Given the description of an element on the screen output the (x, y) to click on. 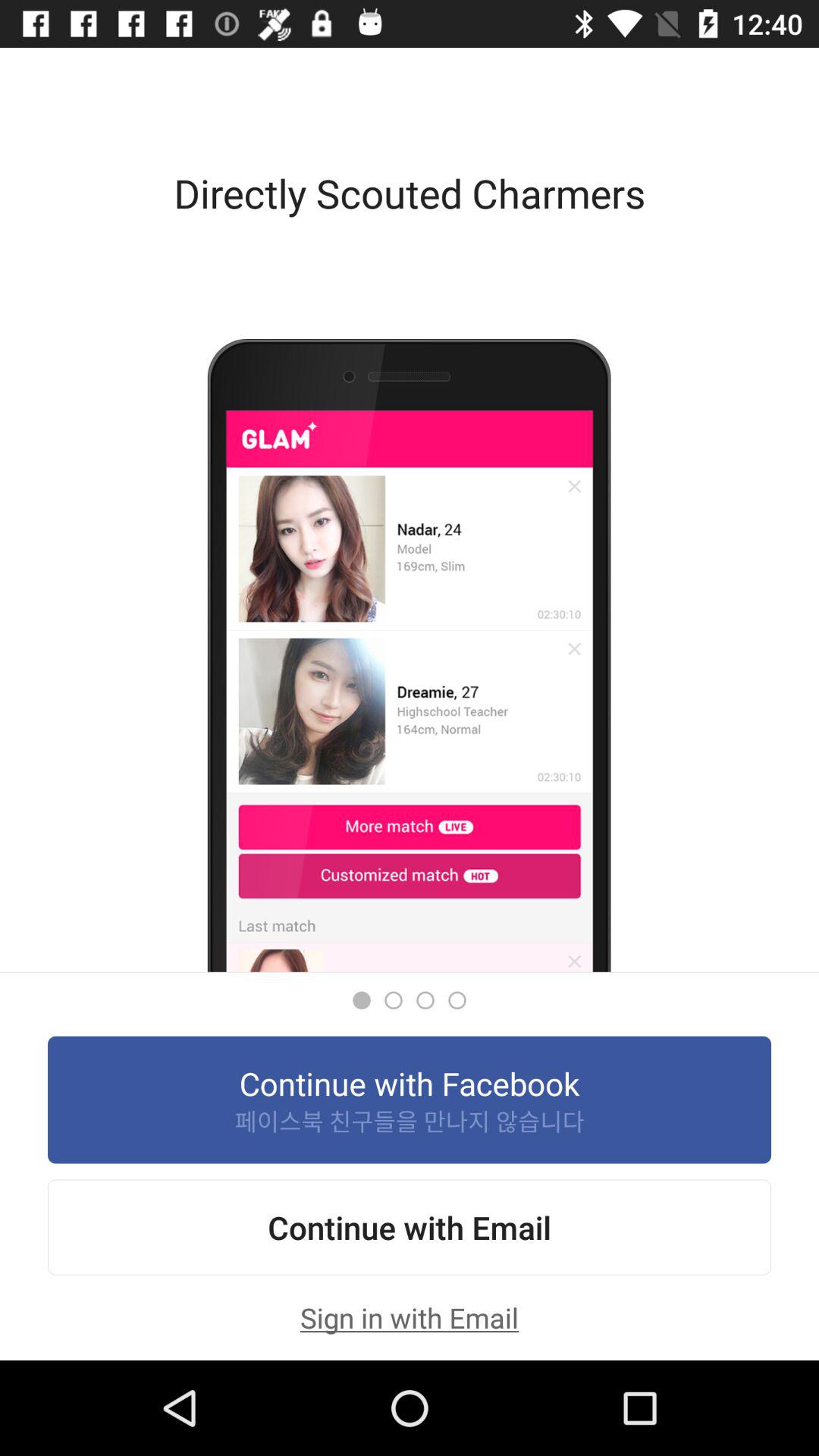
turn off sign in with item (409, 1317)
